Given the description of an element on the screen output the (x, y) to click on. 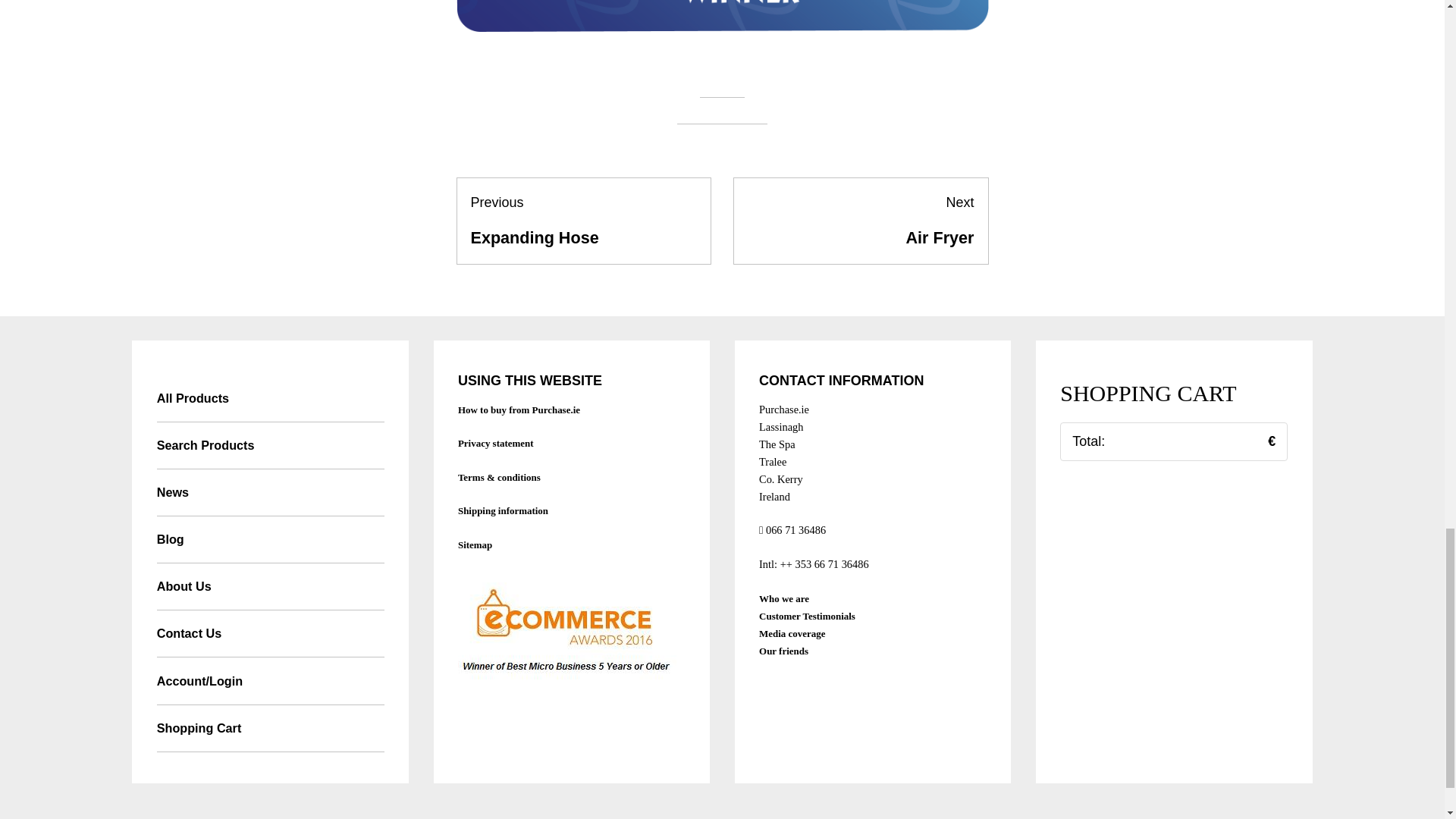
Customer Testimonials (807, 615)
Shipping information (503, 510)
Contact Us (270, 633)
About Us (270, 586)
Who we are (783, 598)
All Products (270, 397)
Privacy statement (496, 442)
Shopping Cart (270, 728)
Our friends (783, 650)
Blog (860, 220)
News (270, 539)
How to buy from Purchase.ie (270, 492)
Search Products (518, 409)
